Given the description of an element on the screen output the (x, y) to click on. 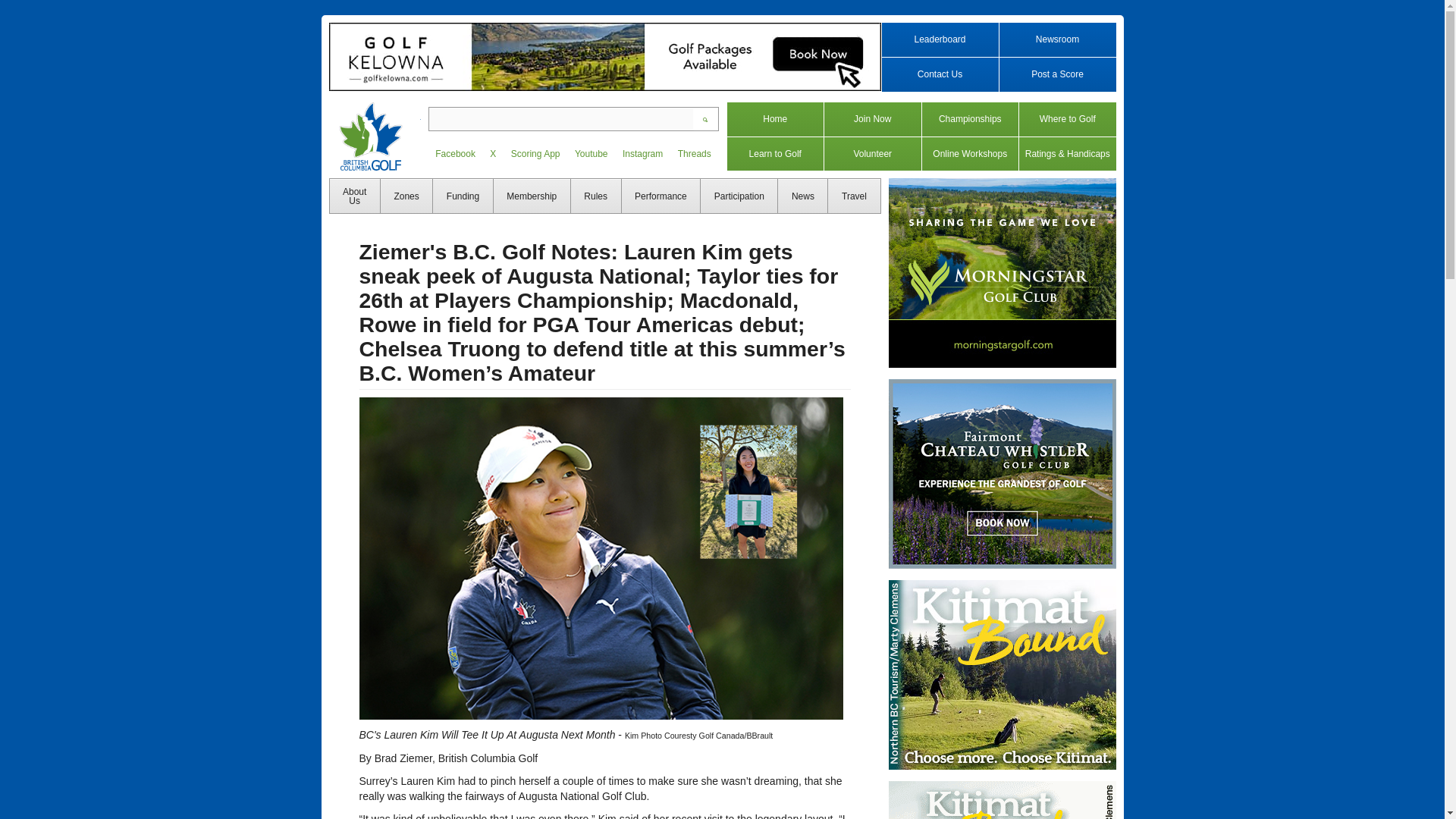
Online Workshops (968, 154)
British Columbia Golf (374, 136)
Championships (968, 119)
Youtube (590, 149)
Contact Us (939, 74)
Newsroom (1056, 39)
Threads (693, 149)
Scoring App (535, 149)
About Us (353, 195)
Post a Score (1056, 74)
